Given the description of an element on the screen output the (x, y) to click on. 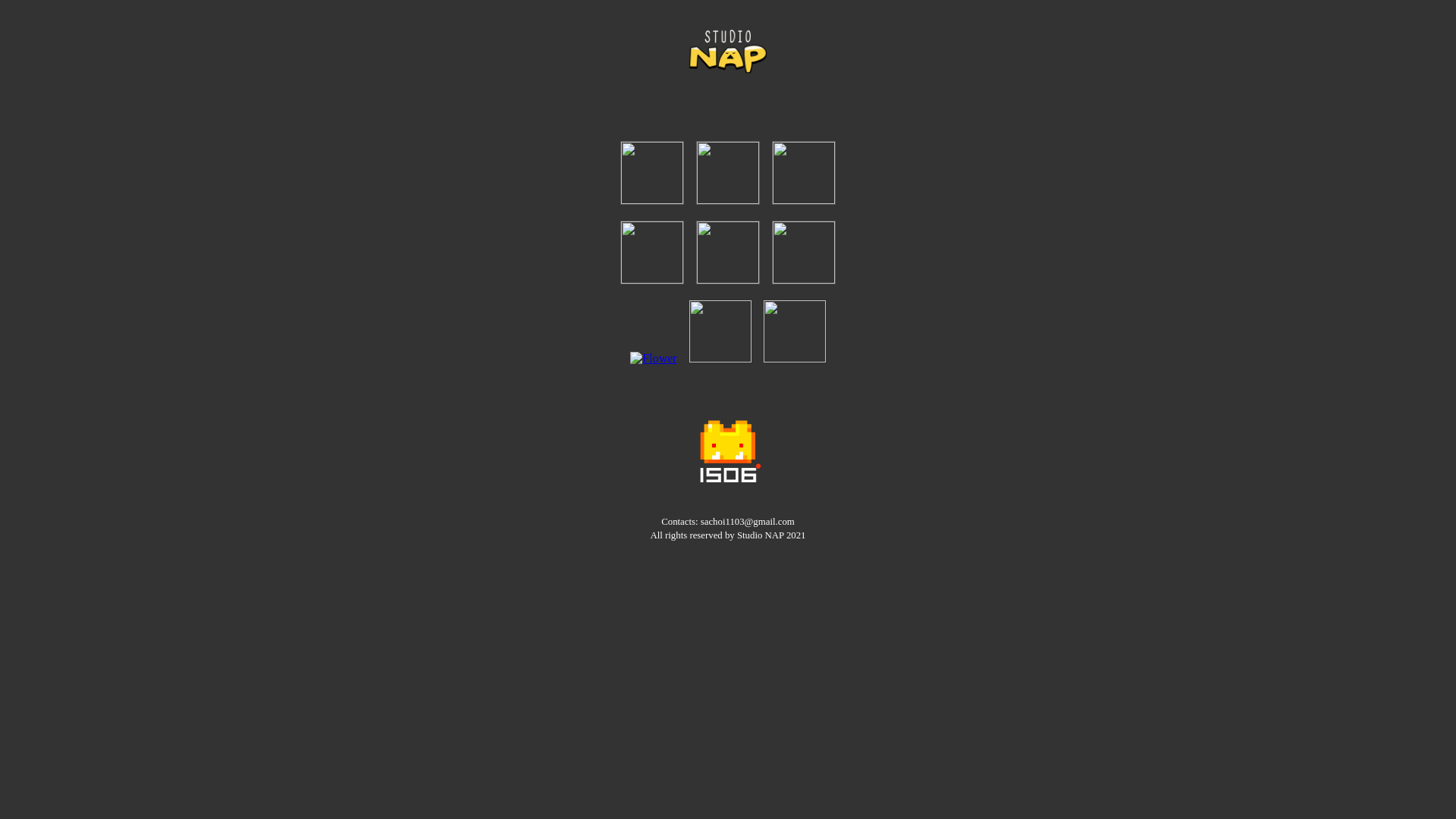
White flower Element type: hover (727, 51)
White flower Element type: hover (653, 358)
White flower Element type: hover (727, 451)
